Given the description of an element on the screen output the (x, y) to click on. 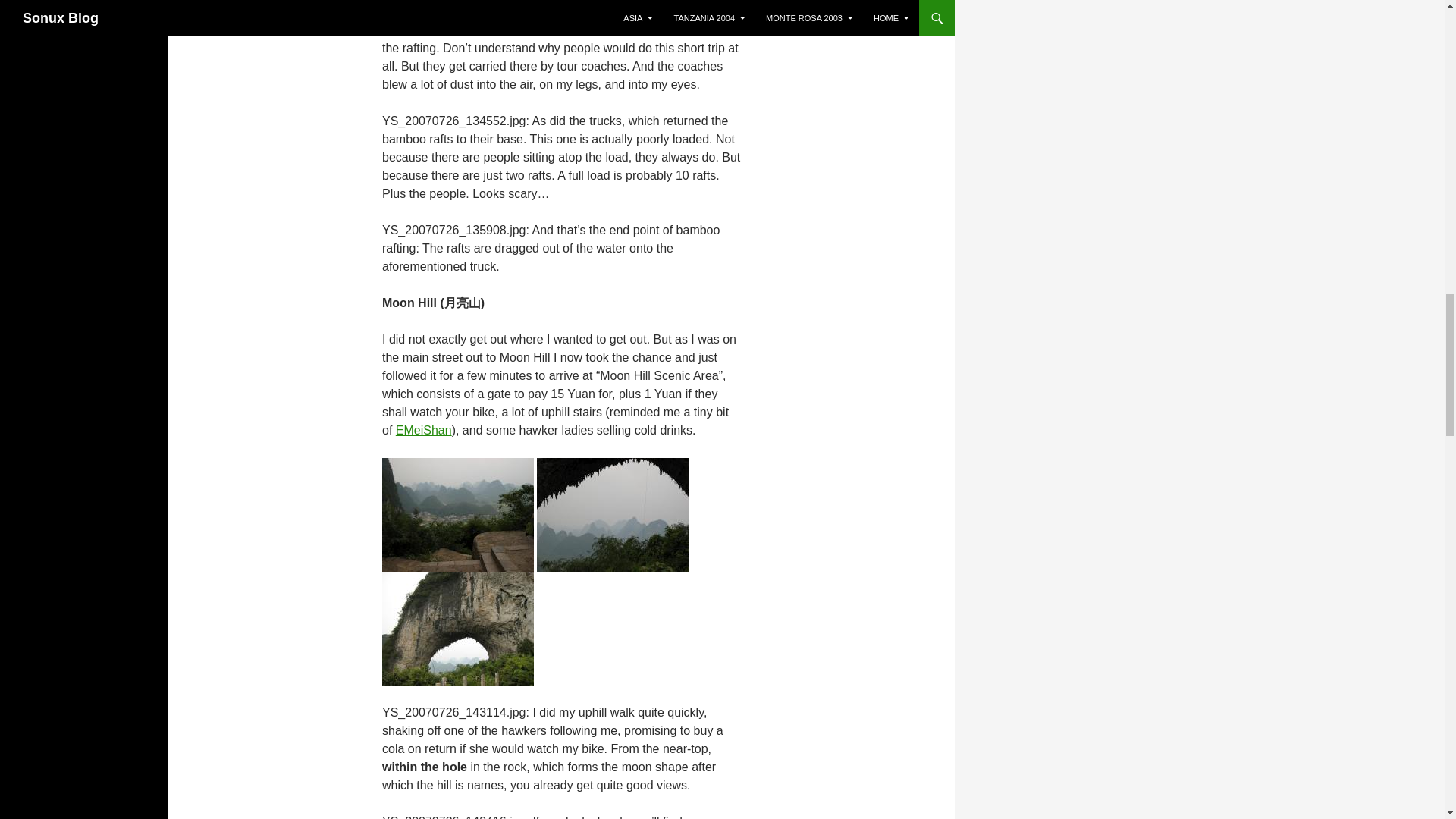
EMeiShan (423, 430)
